Given the description of an element on the screen output the (x, y) to click on. 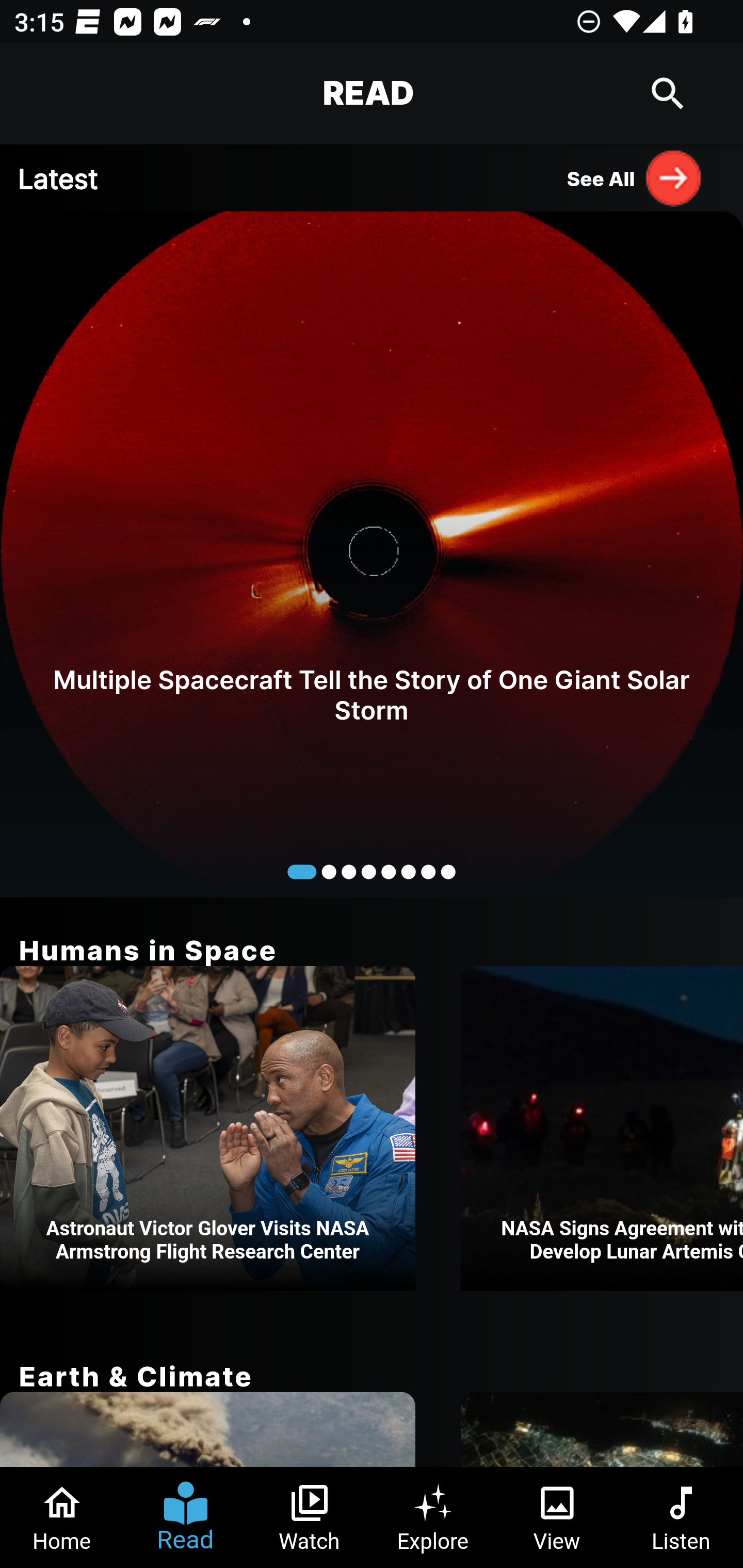
See All (634, 177)
Home
Tab 1 of 6 (62, 1517)
Read
Tab 2 of 6 (185, 1517)
Watch
Tab 3 of 6 (309, 1517)
Explore
Tab 4 of 6 (433, 1517)
View
Tab 5 of 6 (556, 1517)
Listen
Tab 6 of 6 (680, 1517)
